Given the description of an element on the screen output the (x, y) to click on. 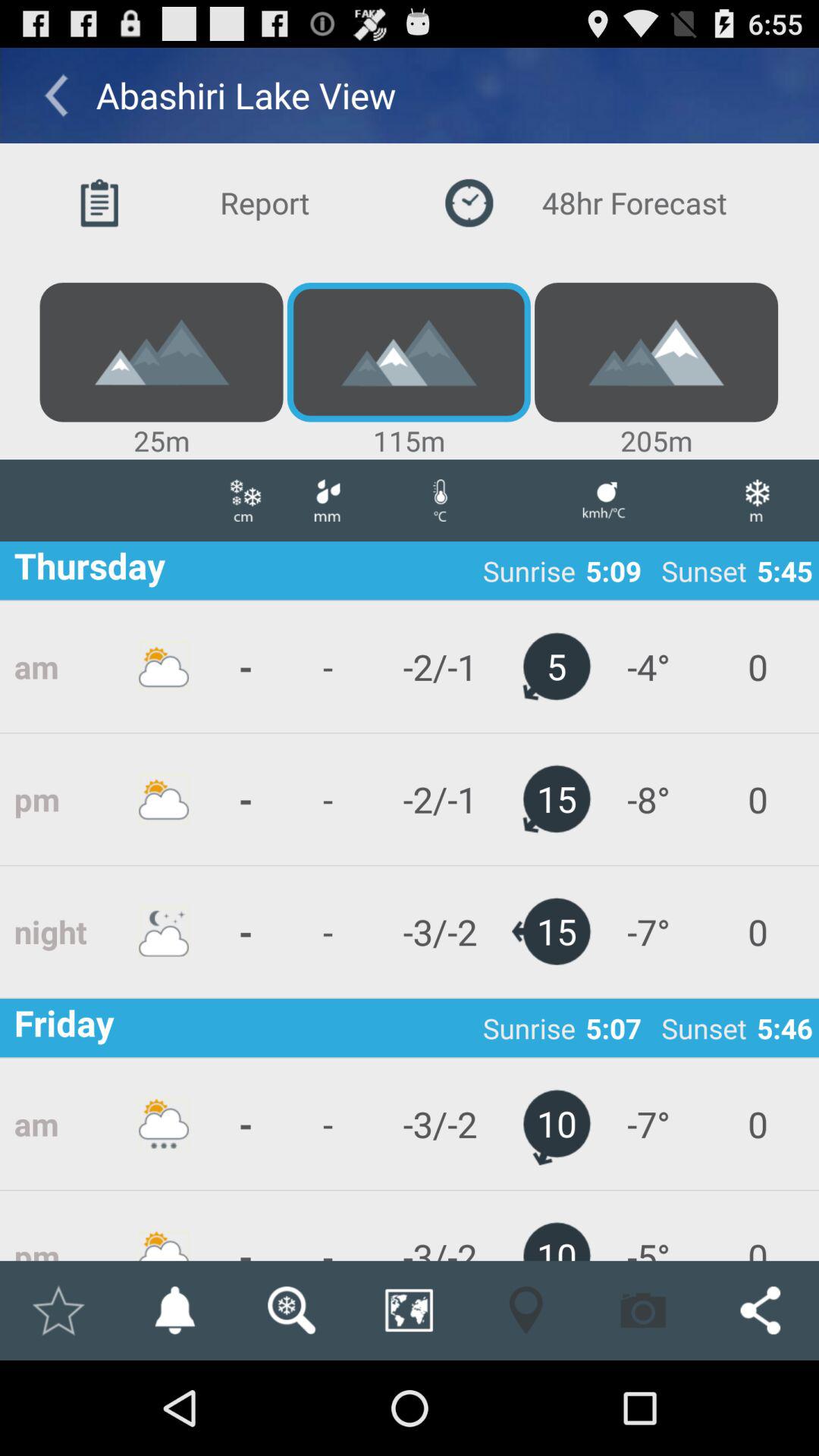
turn off the item below the - icon (408, 1310)
